Given the description of an element on the screen output the (x, y) to click on. 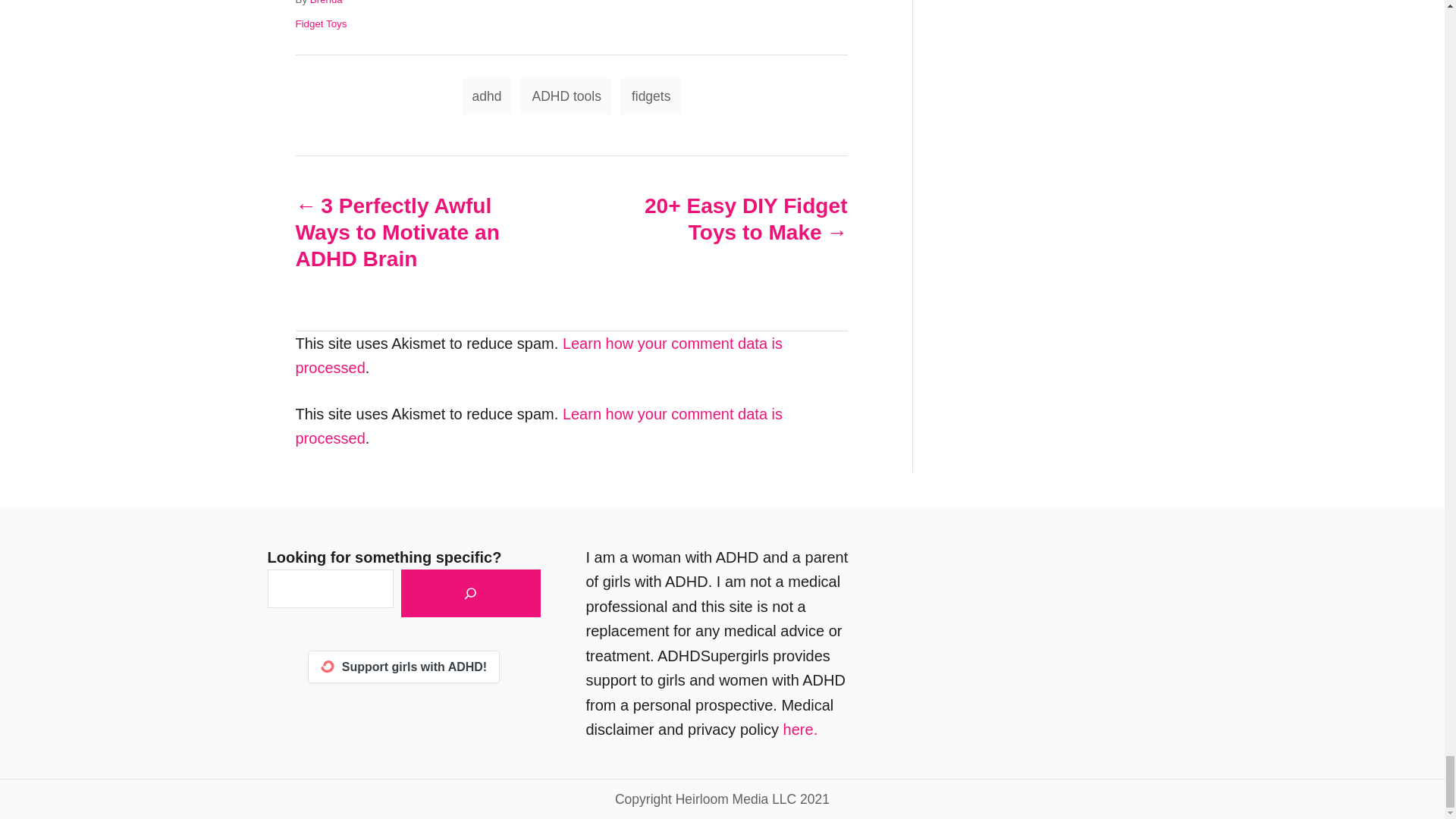
adhd (486, 95)
Brenda (326, 2)
Fidget Toys (321, 23)
ADHD tools (566, 95)
